Given the description of an element on the screen output the (x, y) to click on. 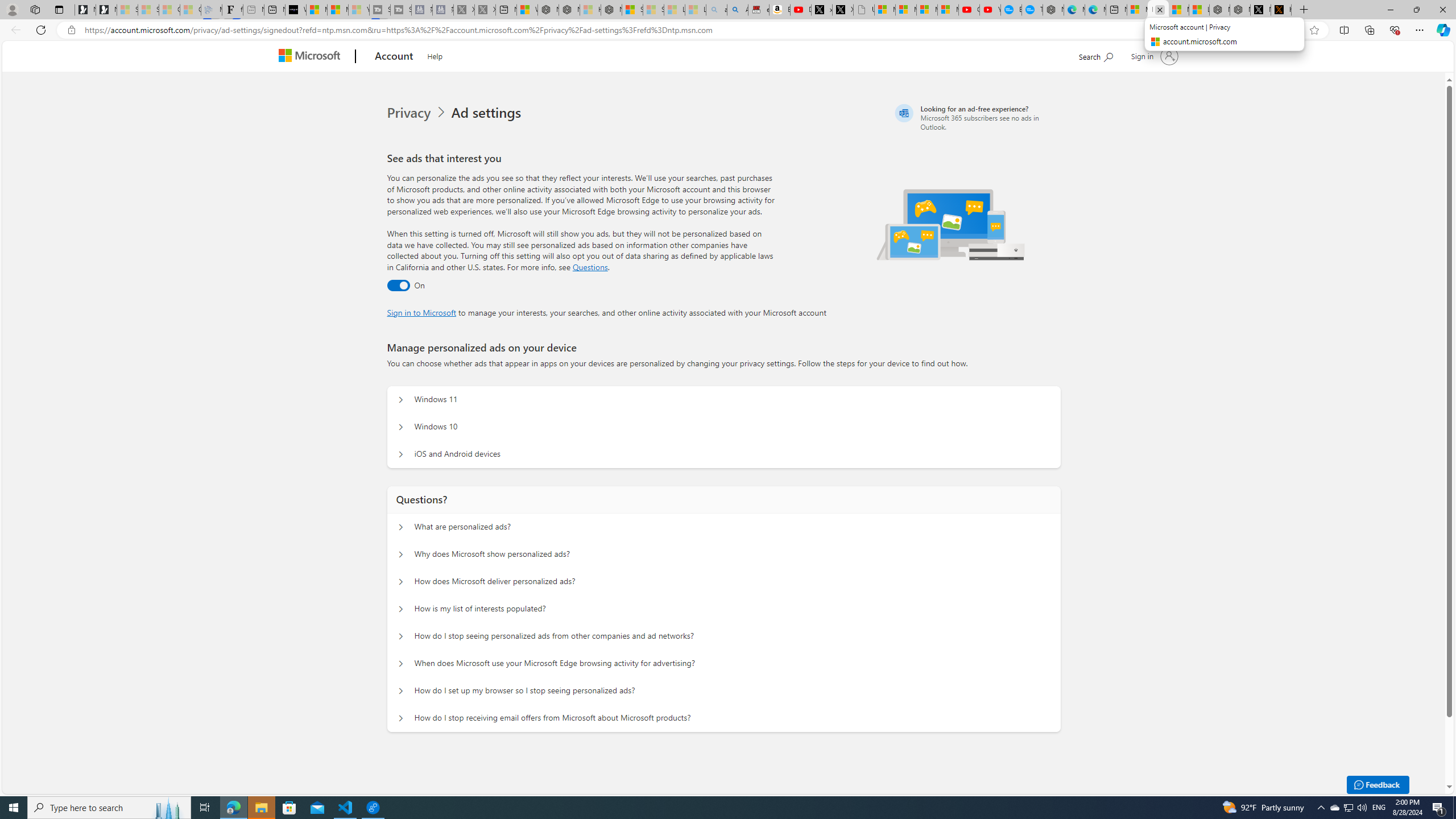
Amazon Echo Dot PNG - Search Images (737, 9)
Microsoft account | Microsoft Account Privacy Settings (1137, 9)
Day 1: Arriving in Yemen (surreal to be here) - YouTube (800, 9)
Account (394, 56)
Sign in to your account (1153, 55)
Search Microsoft.com (1095, 54)
